Given the description of an element on the screen output the (x, y) to click on. 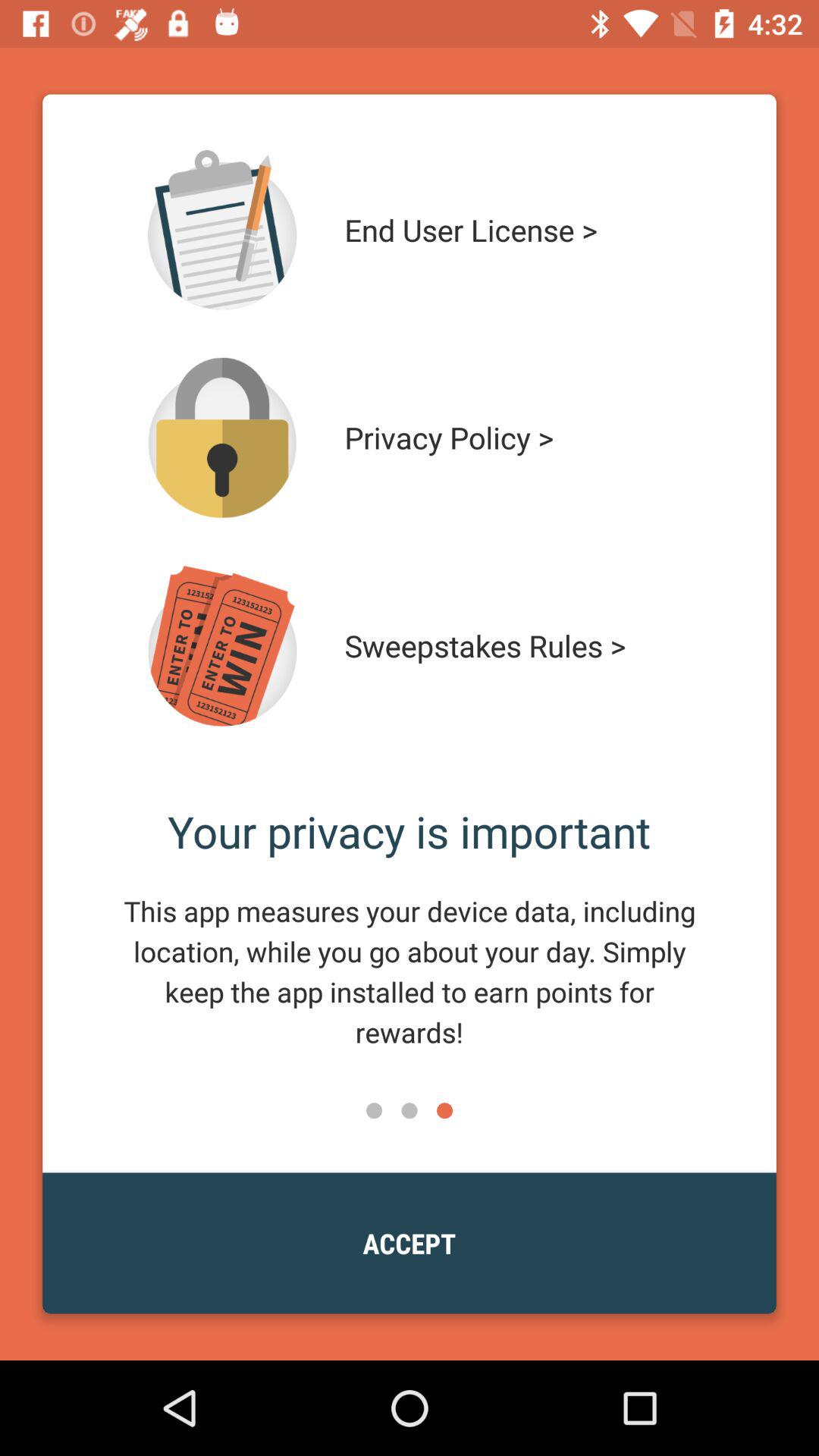
click the icon above your privacy is (514, 646)
